Given the description of an element on the screen output the (x, y) to click on. 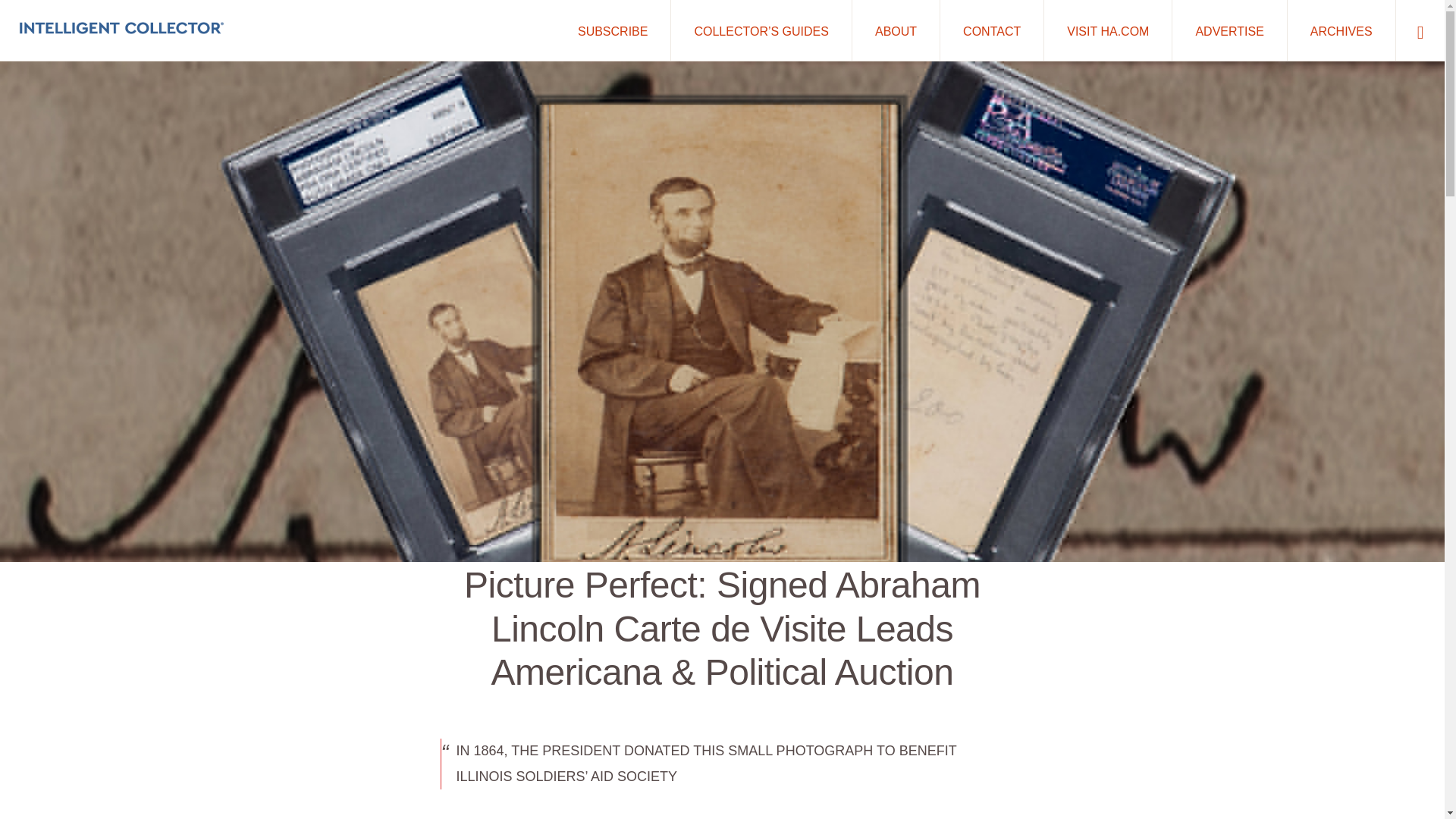
SUBSCRIBE (611, 30)
HOW TO BID (794, 764)
UPCOMING AUCTIONS (506, 764)
CONTACT (991, 30)
SPECIALISTS (664, 764)
VISIT HA.COM (1107, 30)
BECOME A MEMBER (944, 764)
ARCHIVES (1340, 30)
ABOUT (895, 30)
